Given the description of an element on the screen output the (x, y) to click on. 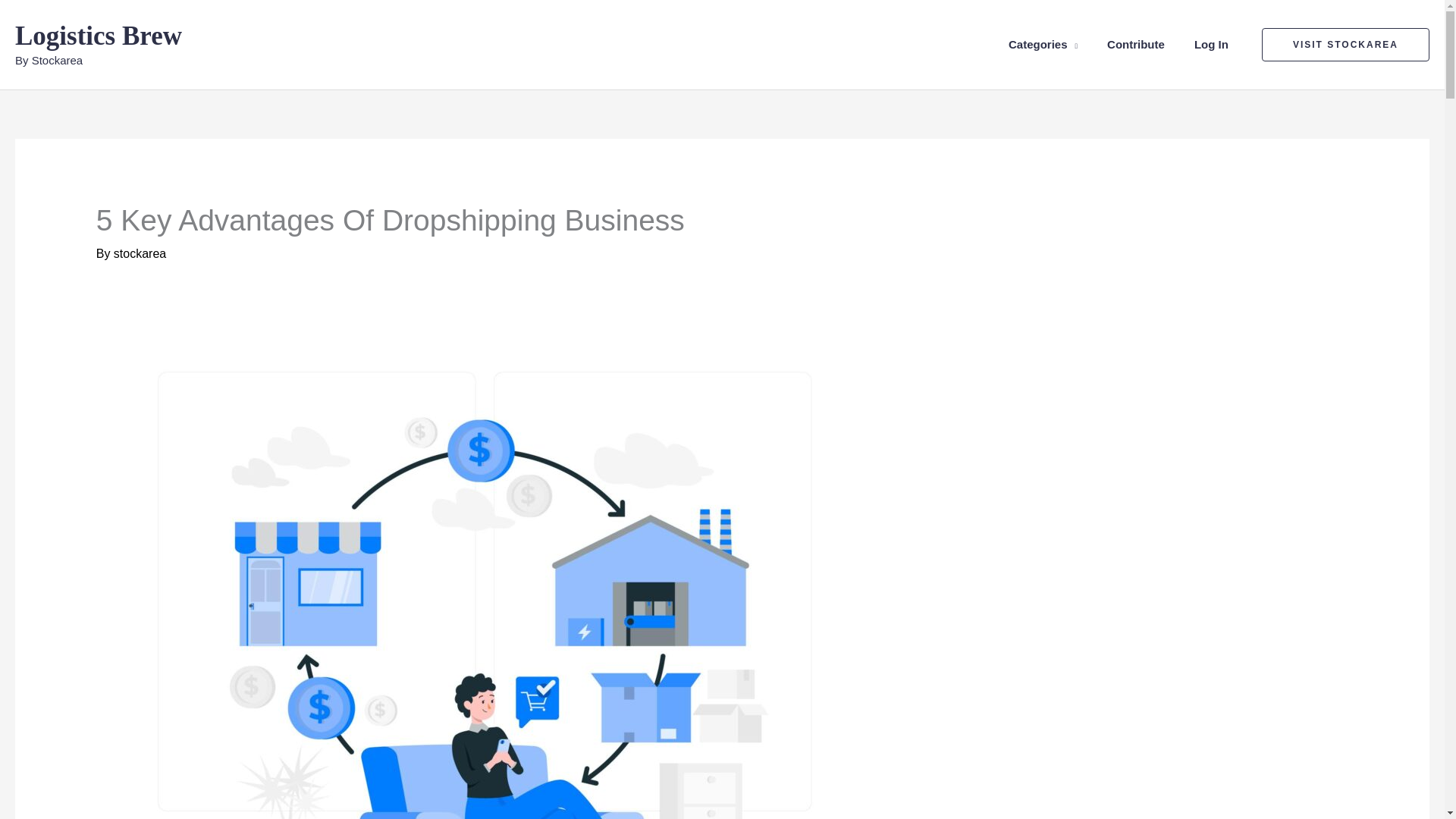
Logistics Brew (98, 35)
stockarea (139, 253)
Categories (1046, 44)
View all posts by stockarea (139, 253)
Contribute (1139, 44)
VISIT STOCKAREA (1345, 44)
Log In (1214, 44)
